Given the description of an element on the screen output the (x, y) to click on. 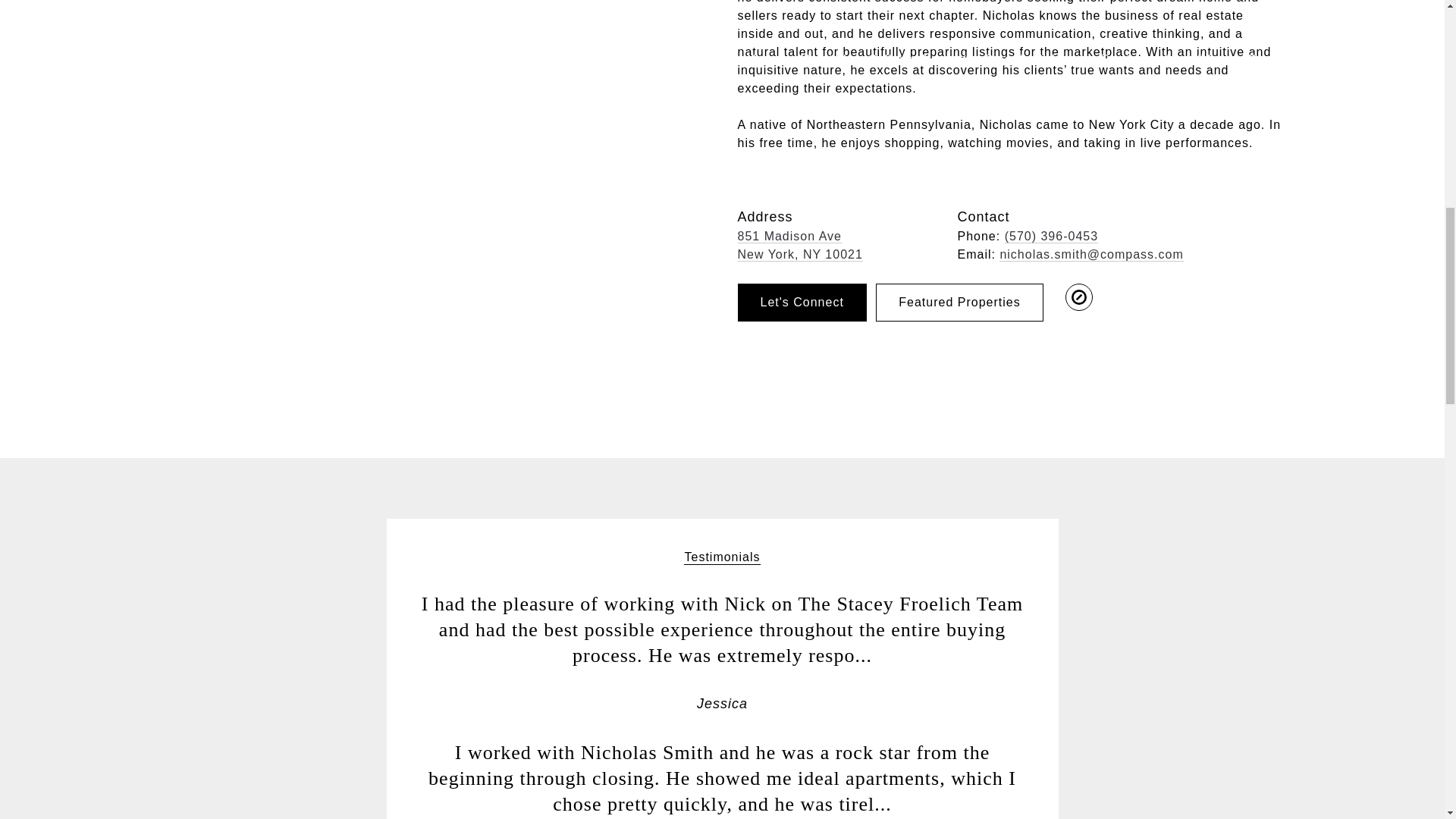
Featured Properties (959, 302)
Let'S Connect (801, 302)
